Given the description of an element on the screen output the (x, y) to click on. 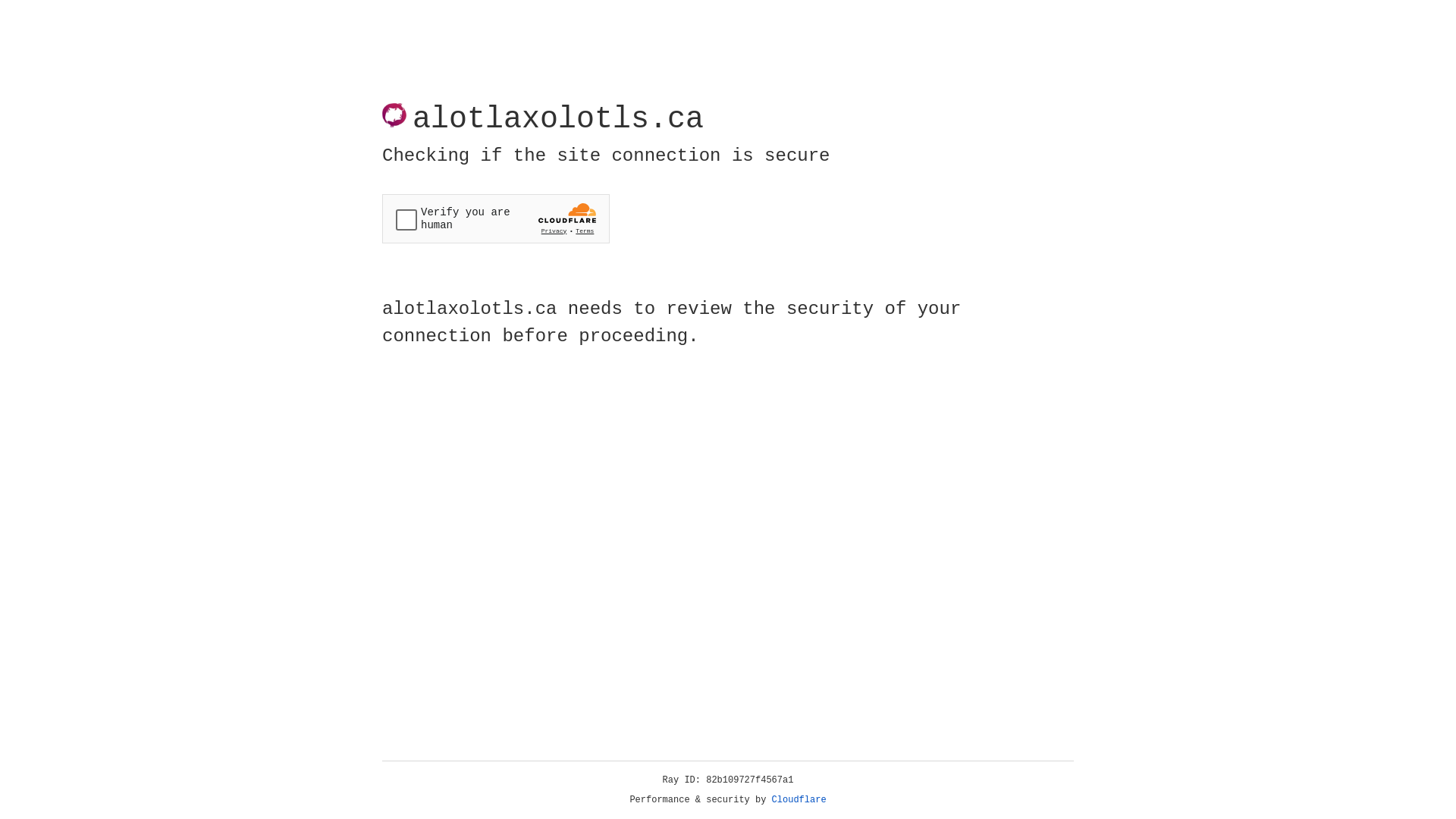
Cloudflare Element type: text (798, 799)
Widget containing a Cloudflare security challenge Element type: hover (495, 218)
